Given the description of an element on the screen output the (x, y) to click on. 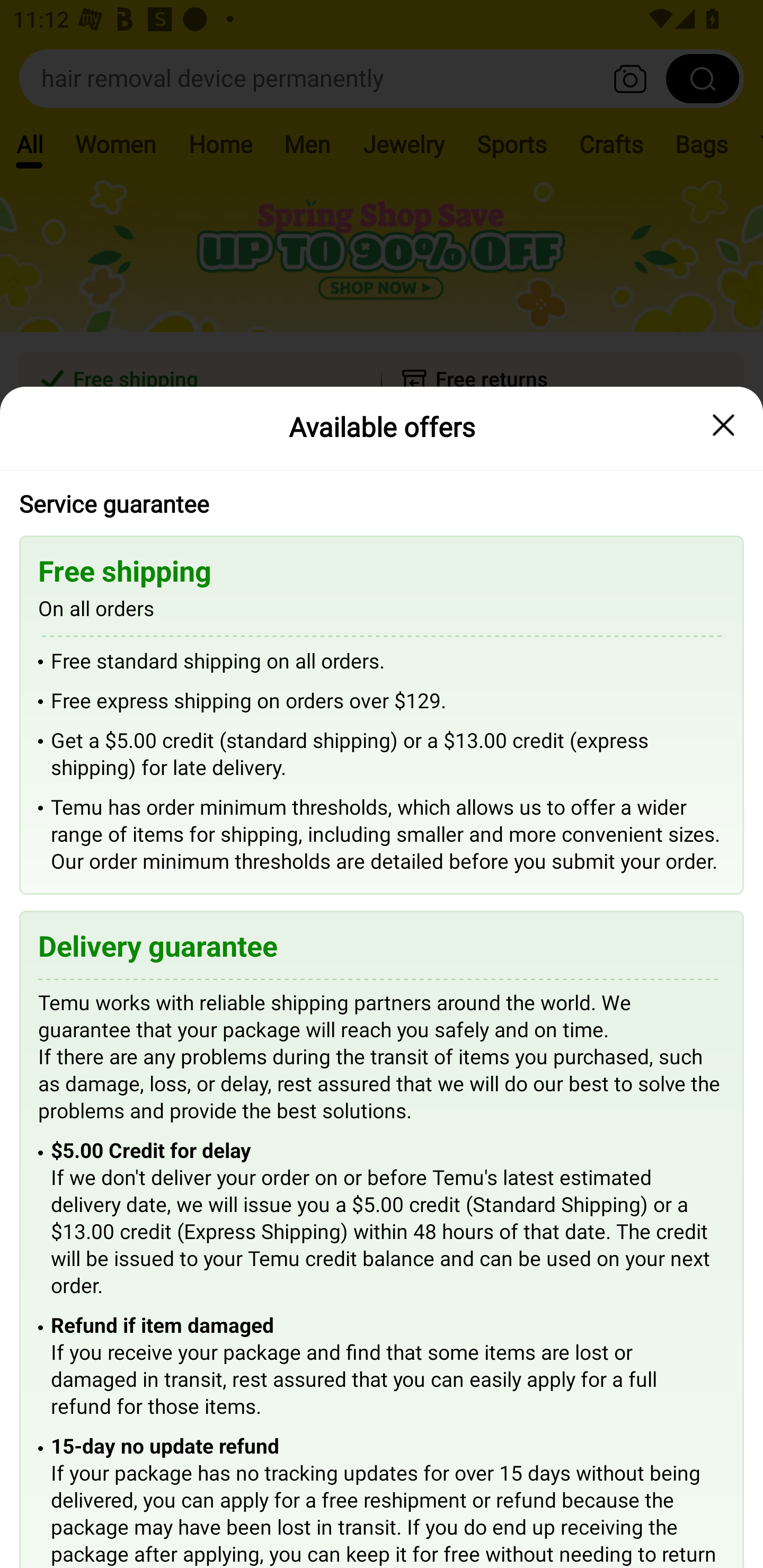
Lightning deals (379, 524)
